Given the description of an element on the screen output the (x, y) to click on. 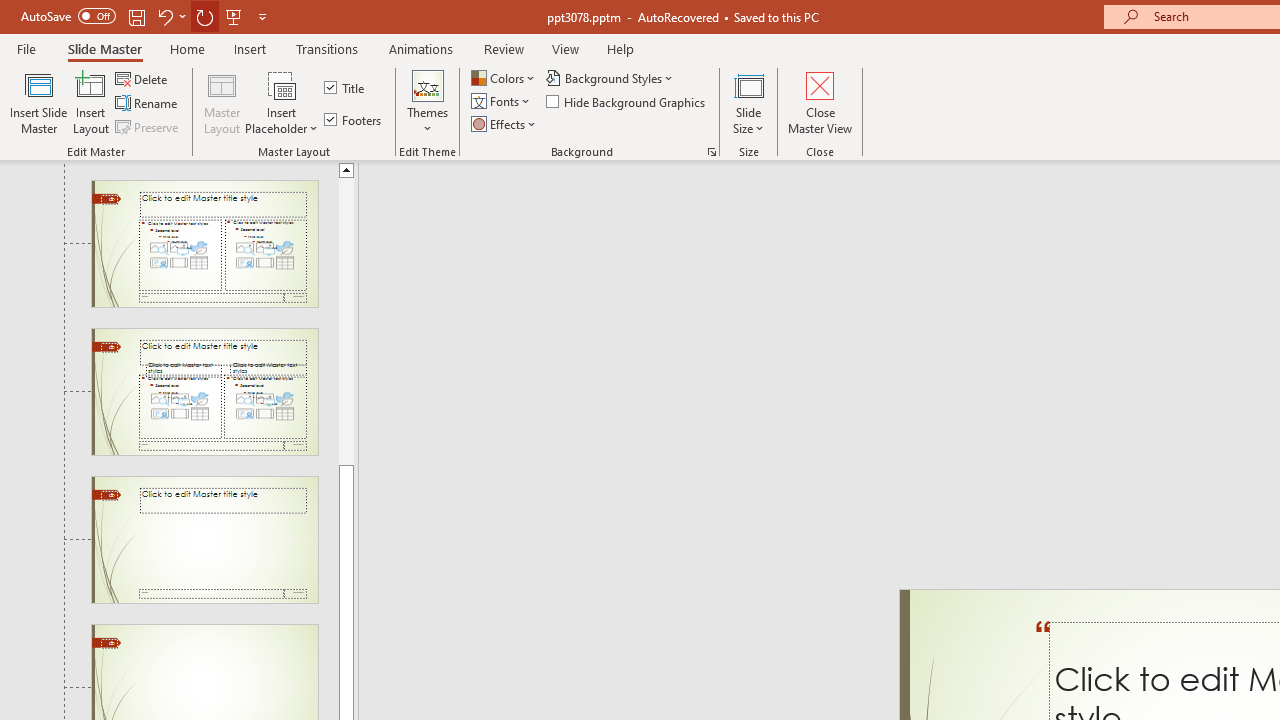
Title (346, 87)
Slide Master (104, 48)
Rename (148, 103)
Footers (354, 119)
Slide Two Content Layout: used by no slides (204, 243)
Master Layout... (221, 102)
Background Styles (610, 78)
Slide Title Only Layout: used by no slides (204, 539)
Slide Size (749, 102)
Slide Comparison Layout: used by no slides (204, 392)
Themes (427, 102)
Close Master View (820, 102)
